Given the description of an element on the screen output the (x, y) to click on. 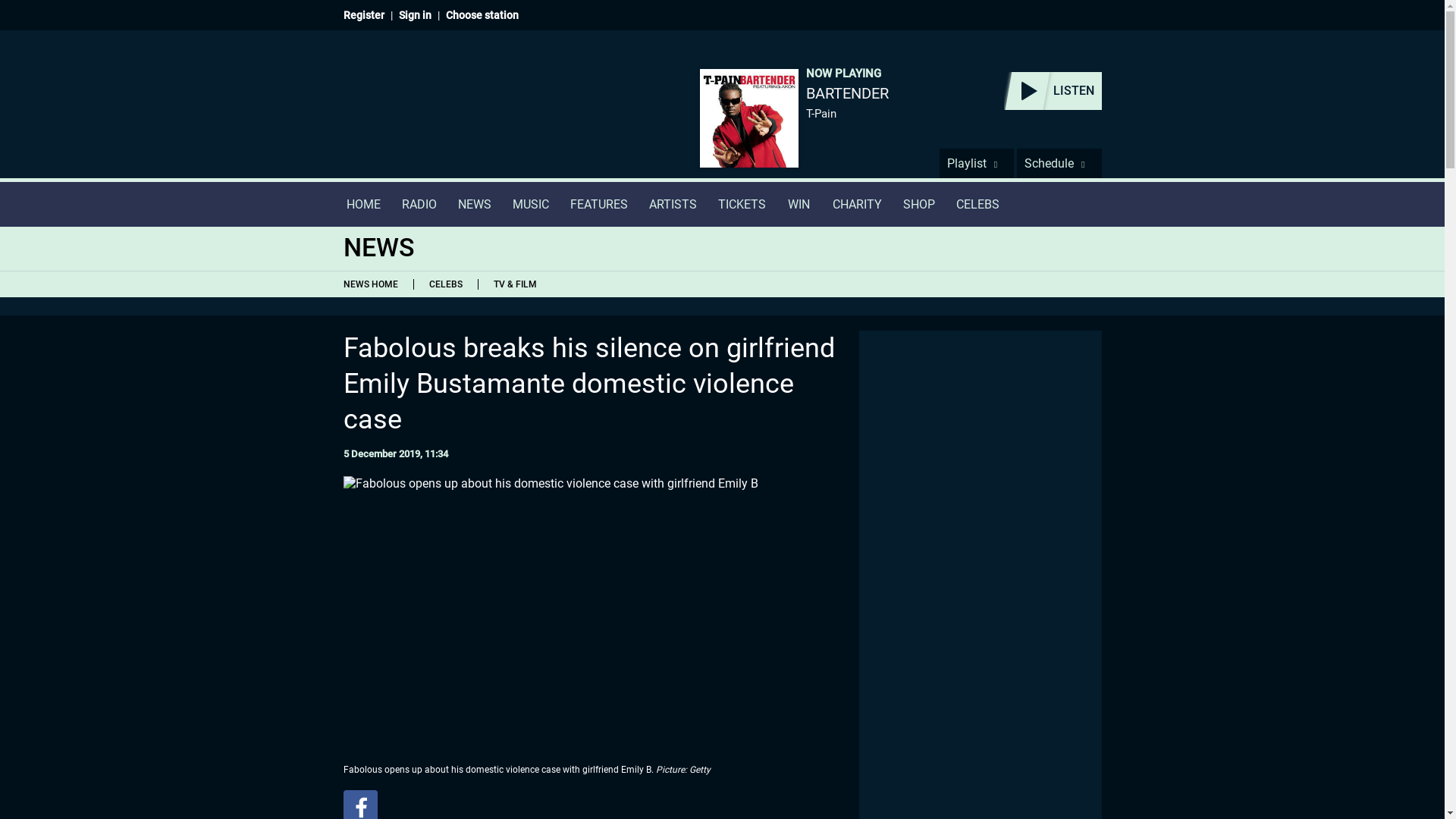
Choose station (481, 15)
NEWS (474, 203)
Register (363, 15)
WIN (799, 203)
CELEBS (444, 284)
LISTEN (1053, 90)
HOME (362, 203)
FEATURES (599, 203)
ARTISTS (673, 203)
NEWS HOME (373, 284)
